Given the description of an element on the screen output the (x, y) to click on. 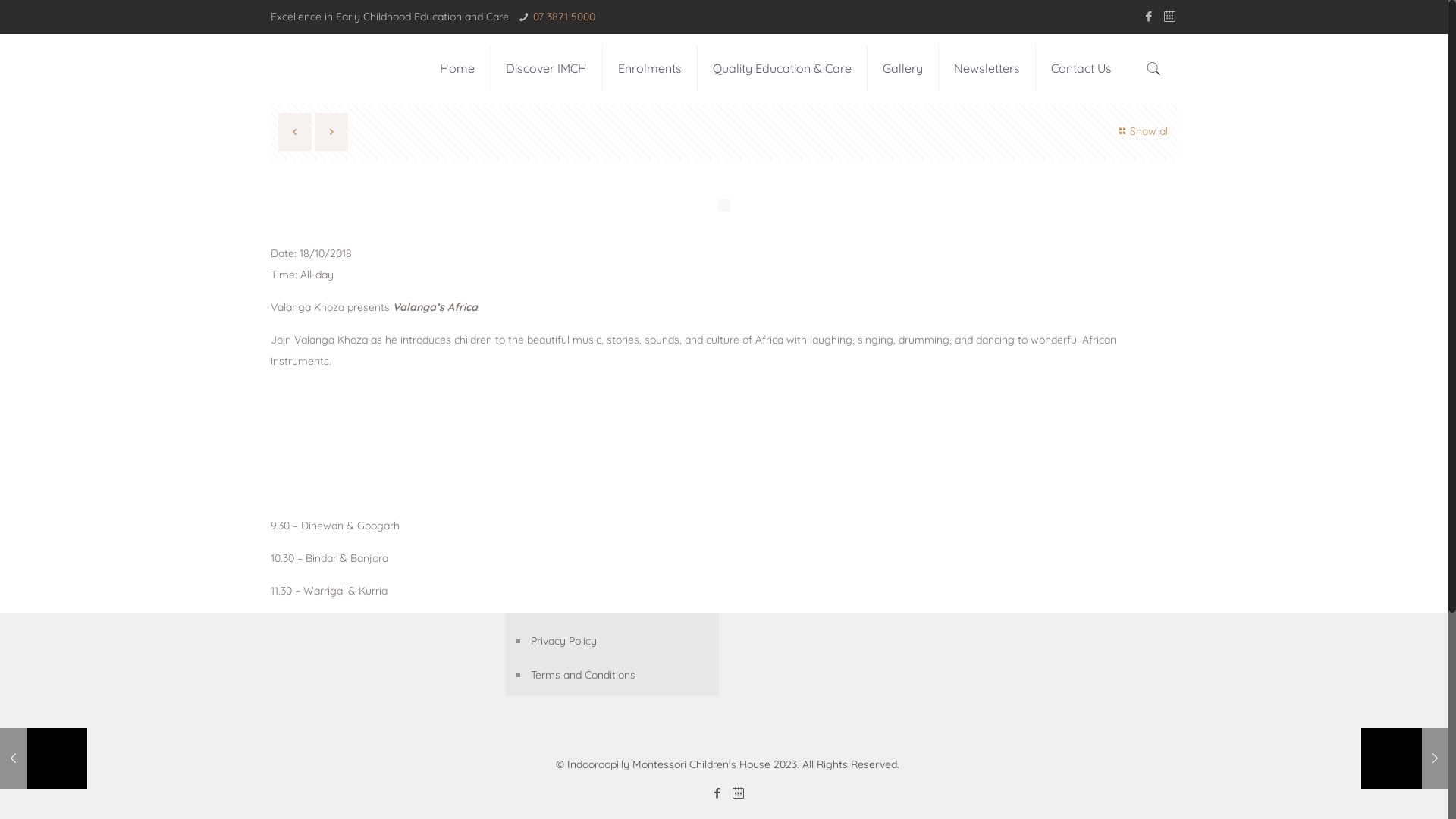
EREA-logo-trans Element type: hover (359, 434)
Home Element type: text (457, 68)
07 3871 5000 Element type: text (564, 16)
Parent Portal Element type: text (619, 436)
December 2017 Element type: text (850, 504)
FAQs Element type: text (619, 470)
Facebook Element type: hover (1149, 16)
Indooroopilly Montessori Children's House Element type: hover (304, 68)
Privacy Policy Element type: text (619, 641)
Show all Element type: text (1142, 131)
Quality Education and Care Element type: text (619, 504)
Facebook Element type: hover (717, 792)
Contact Us Element type: text (1080, 68)
Enrolments Element type: text (649, 68)
May 2019 Element type: text (850, 470)
Discover IMCH Element type: text (546, 68)
Edmund Rice Education Australia Element type: text (619, 538)
07 3871 5000 Element type: text (1017, 510)
Newsletters Element type: text (986, 68)
Quality Education & Care Element type: text (782, 68)
Concerns and Feedback Element type: text (619, 606)
Terms and Conditions Element type: text (619, 675)
Gallery Element type: text (902, 68)
April 2022 Element type: text (850, 436)
